Given the description of an element on the screen output the (x, y) to click on. 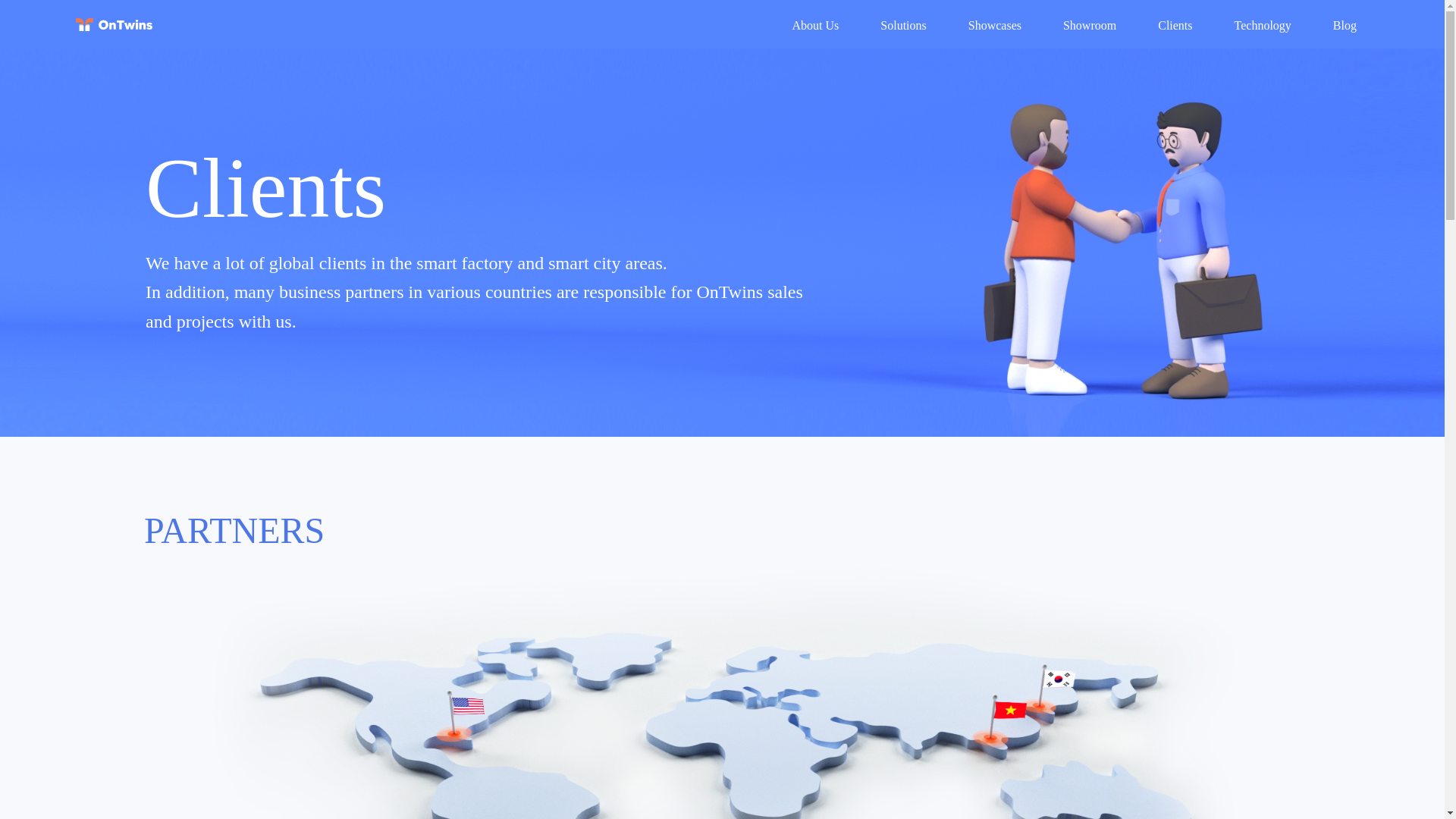
Showroom (1089, 24)
Showcases (995, 24)
About Us (815, 24)
Technology (1262, 24)
Clients (1174, 24)
Blog (1344, 24)
Solutions (903, 24)
